Given the description of an element on the screen output the (x, y) to click on. 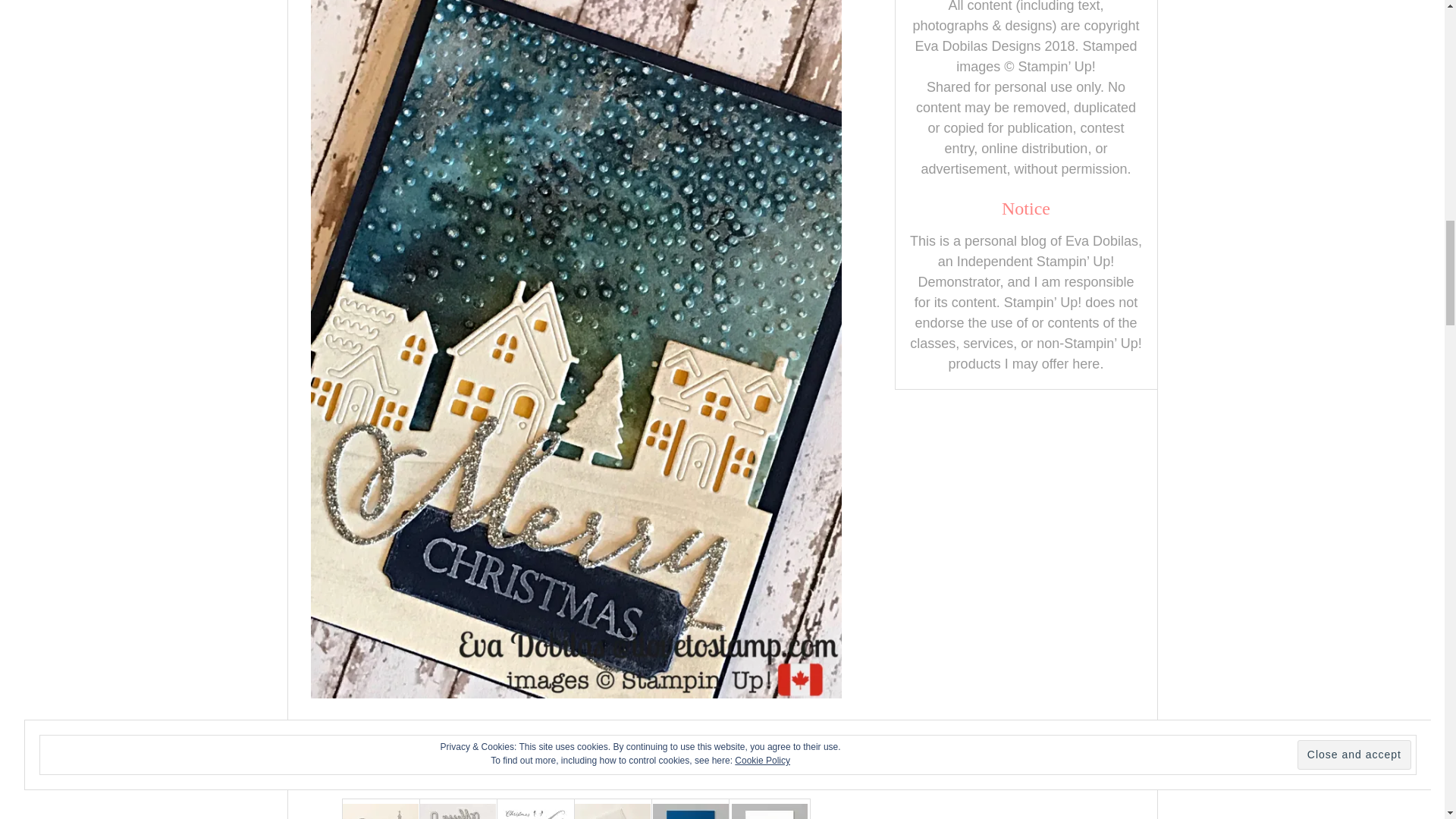
Hometown Greetings Edgelits Dies (380, 811)
Merry Christmas To All Photopolymer Stamp Set (535, 811)
Merry Christmas Thinlits Dies (458, 811)
